Given the description of an element on the screen output the (x, y) to click on. 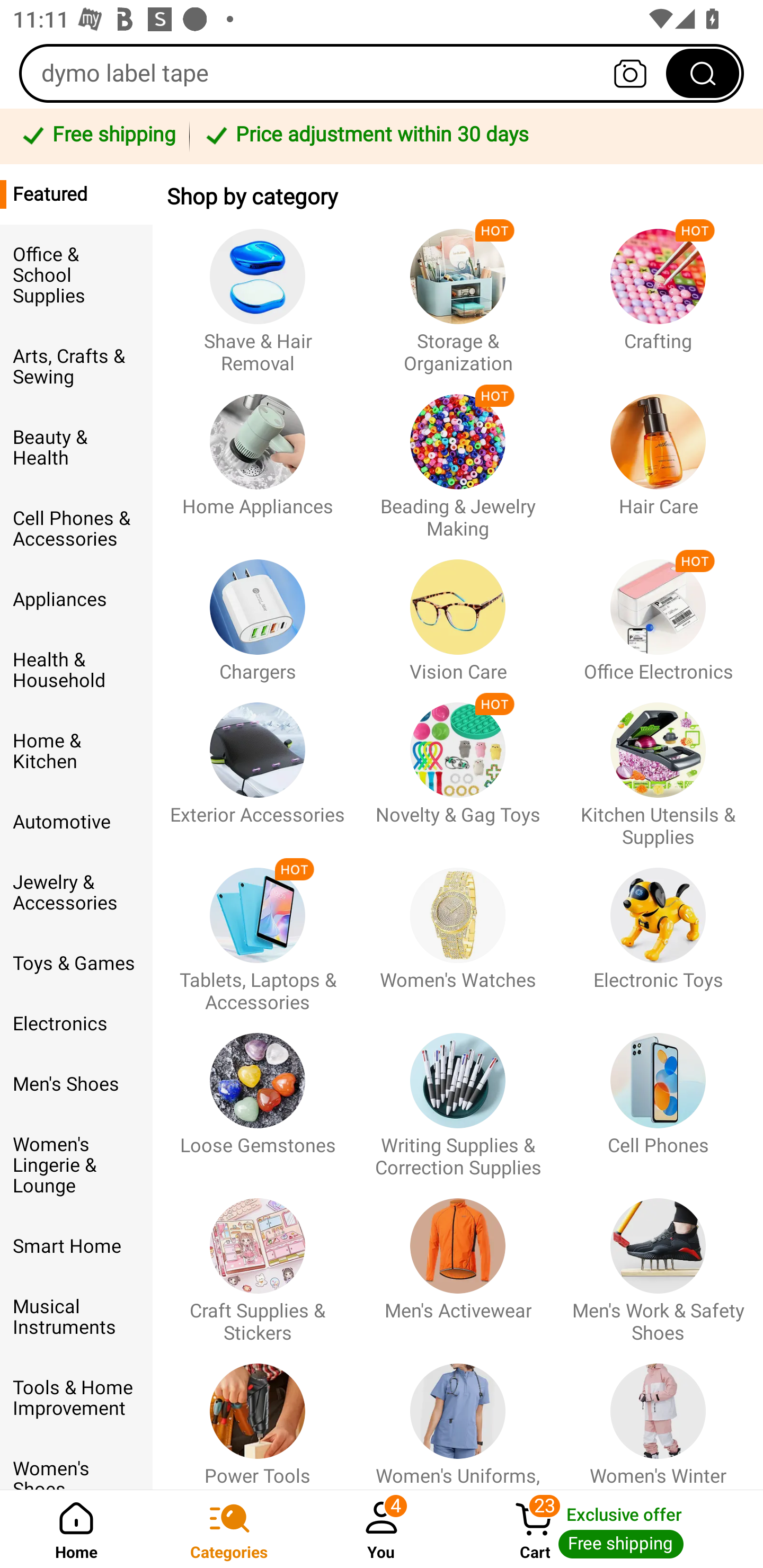
dymo label tape (381, 73)
Free shipping (97, 136)
Price adjustment within 30 days (472, 136)
Featured (76, 194)
Shave & Hair Removal (257, 292)
Storage & Organization (457, 292)
Crafting (657, 292)
Office & School Supplies (76, 275)
Arts, Crafts & Sewing (76, 366)
Home Appliances (257, 457)
Beading & Jewelry Making (457, 457)
Hair Care (657, 457)
Beauty & Health (76, 447)
Cell Phones & Accessories (76, 528)
Chargers (257, 611)
Vision Care (457, 611)
Office Electronics (657, 611)
Appliances (76, 599)
Health & Household (76, 670)
Exterior Accessories (257, 765)
Novelty & Gag Toys (457, 765)
Kitchen Utensils & Supplies (657, 765)
Home & Kitchen (76, 750)
Automotive (76, 821)
Tablets, Laptops & Accessories (257, 931)
Women's Watches (457, 931)
Electronic Toys (657, 931)
Jewelry & Accessories (76, 892)
Toys & Games (76, 963)
Electronics (76, 1023)
Loose Gemstones (257, 1096)
Writing Supplies & Correction Supplies (457, 1096)
Cell Phones (657, 1096)
Men's Shoes (76, 1083)
Women's Lingerie & Lounge (76, 1165)
Craft Supplies & Stickers (257, 1261)
Men's Activewear (457, 1261)
Men's Work & Safety Shoes (657, 1261)
Smart Home (76, 1246)
Musical Instruments (76, 1316)
Power Tools (257, 1416)
Women's Uniforms, Work & Safety (457, 1416)
Women's Winter Sports Clothing (657, 1416)
Tools & Home Improvement (76, 1398)
Women's Shoes (76, 1464)
Home (76, 1528)
Categories (228, 1528)
You 4 You (381, 1528)
Cart 23 Cart Exclusive offer (610, 1528)
